Given the description of an element on the screen output the (x, y) to click on. 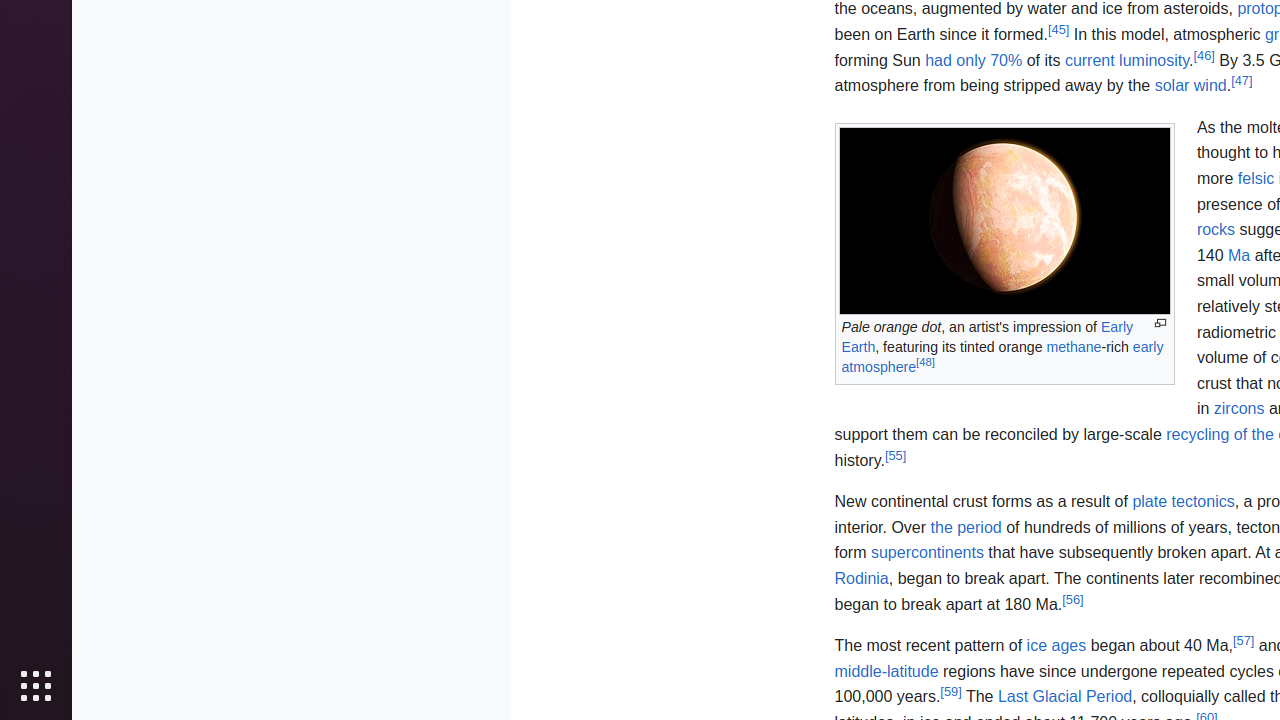
middle-latitude Element type: link (886, 671)
ice ages Element type: link (1056, 646)
[55] Element type: link (895, 455)
Ma Element type: link (1239, 255)
supercontinents Element type: link (927, 553)
